Given the description of an element on the screen output the (x, y) to click on. 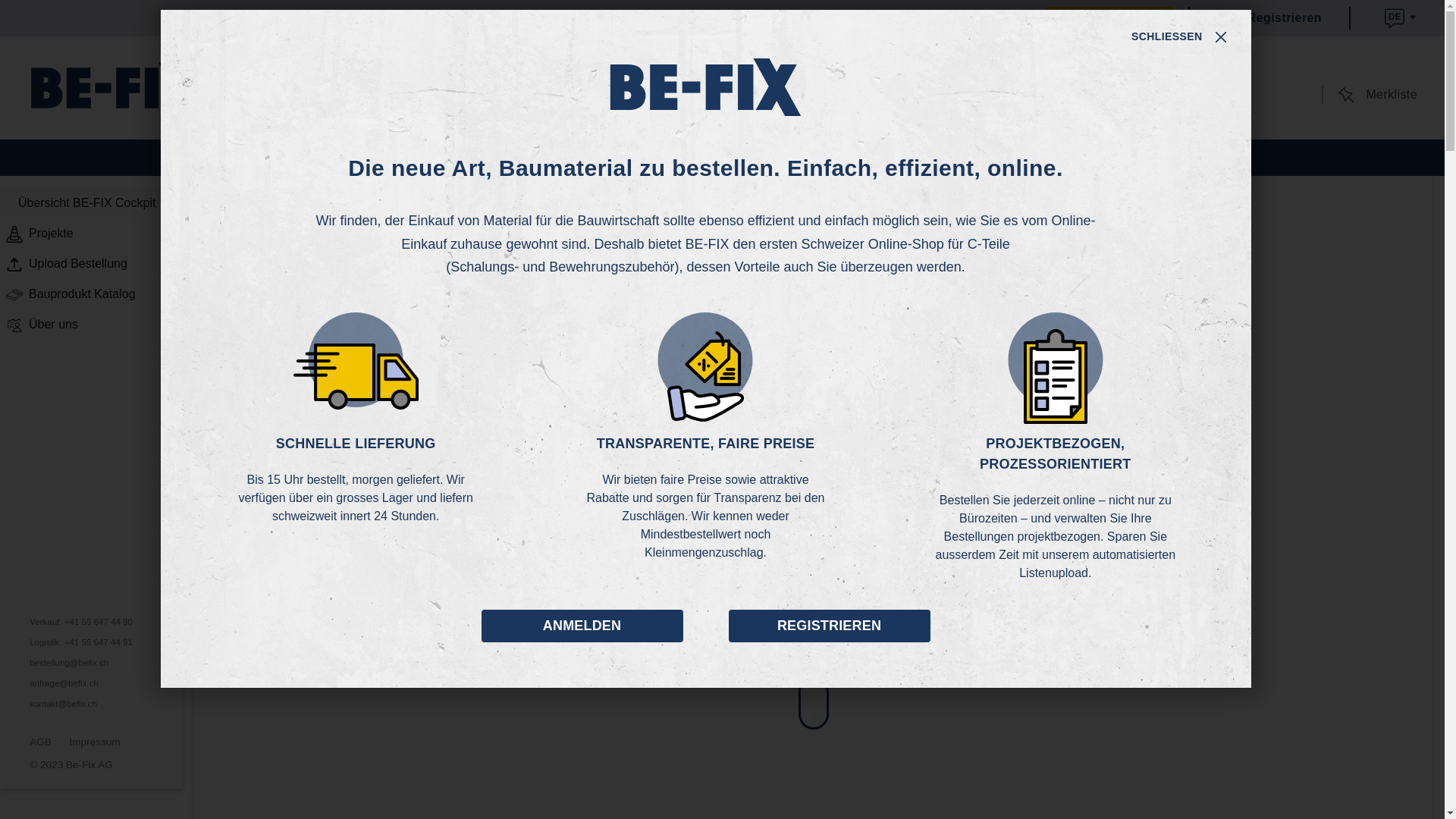
DISTANZROHRE Element type: text (788, 157)
Upload Bestellung Element type: text (90, 263)
ANMELDEN Element type: text (581, 625)
AGB Element type: text (40, 742)
anfrage@befix.ch Element type: text (64, 683)
Registrieren Element type: text (1260, 17)
SCHLIESSEN Element type: text (1179, 36)
kontakt@befix.ch Element type: text (63, 703)
Impressum Element type: text (94, 742)
Down Element type: text (812, 702)
Merkliste Element type: text (1375, 94)
Bauprodukt Katalog Element type: text (90, 294)
REGISTRIEREN Element type: text (828, 625)
Verkauf: +41 55 647 44 90 Element type: text (81, 621)
bestellung@befix.ch Element type: text (69, 662)
Anmelden Element type: text (1109, 17)
Projekte Element type: text (90, 233)
Logistik: +41 55 647 44 91 Element type: text (81, 642)
